Given the description of an element on the screen output the (x, y) to click on. 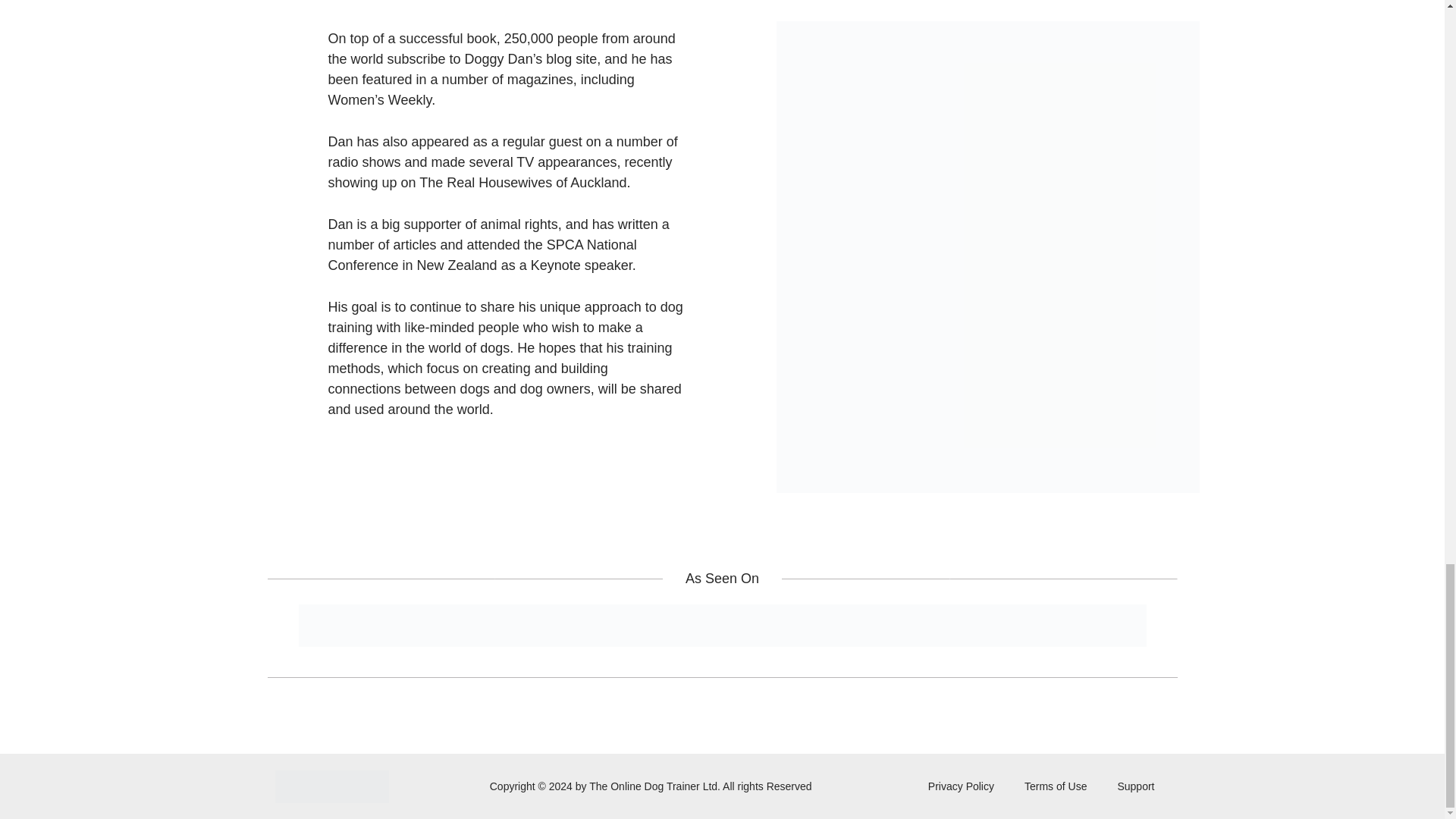
Support (1135, 786)
Terms of Use (1055, 786)
Privacy Policy (960, 786)
